Given the description of an element on the screen output the (x, y) to click on. 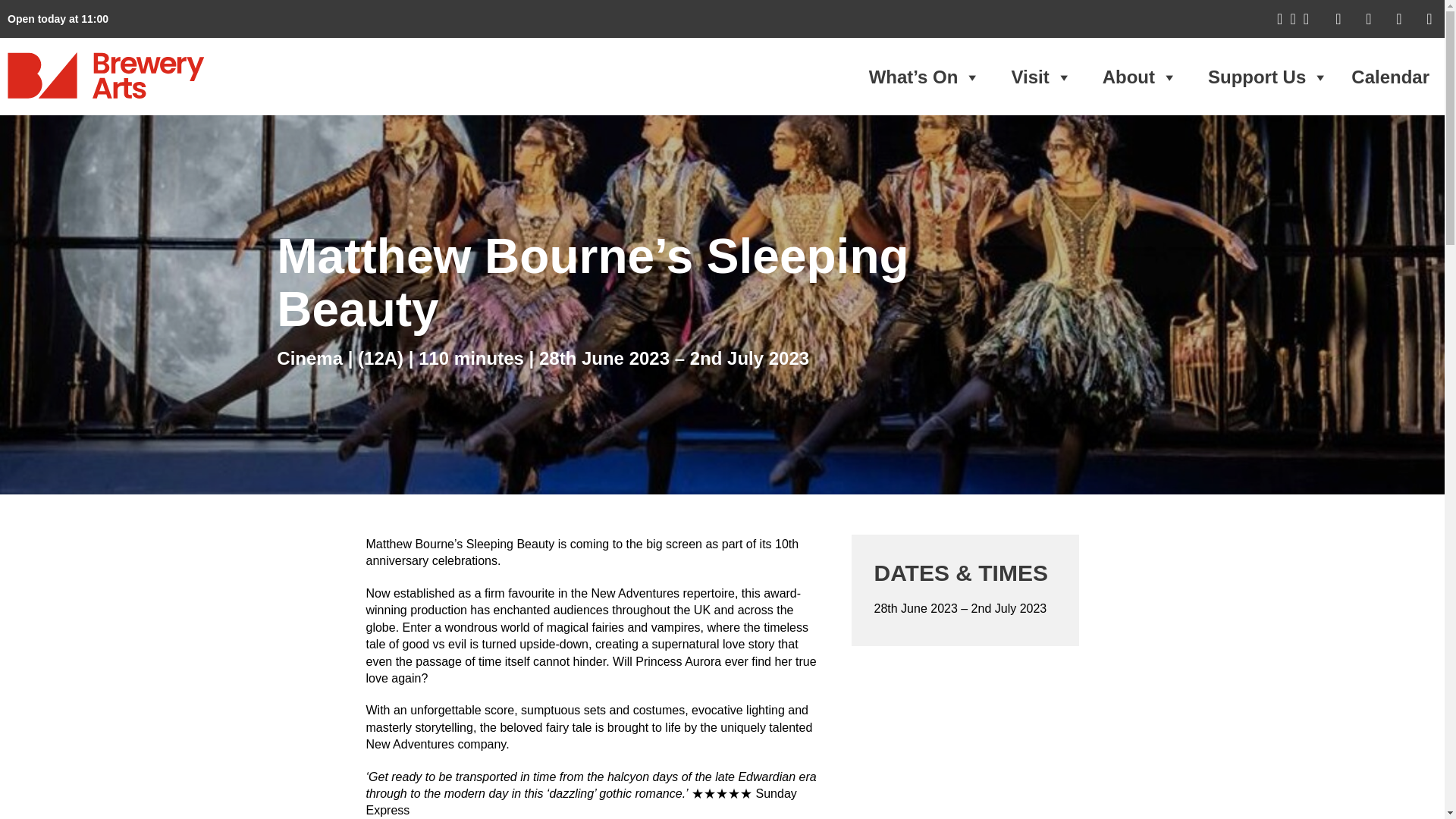
Visit (1040, 77)
About (1139, 77)
Open today at 11:00 (57, 19)
